Given the description of an element on the screen output the (x, y) to click on. 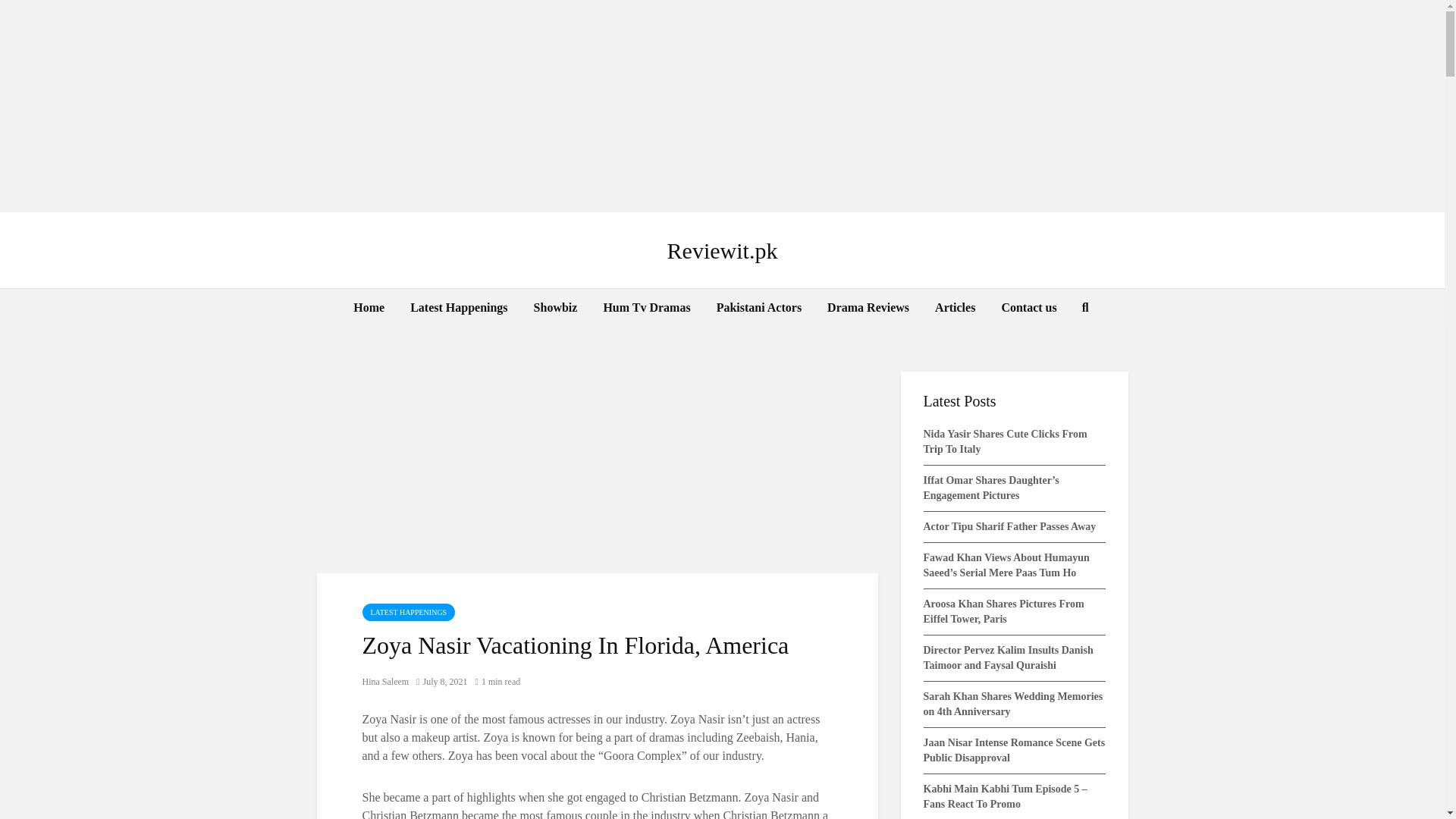
Home (369, 307)
Hum Tv Dramas (646, 307)
Latest Happenings (458, 307)
Advertisement (597, 460)
Drama Reviews (867, 307)
Articles (955, 307)
LATEST HAPPENINGS (408, 611)
Showbiz (555, 307)
Contact us (1028, 307)
Hina Saleem (385, 681)
Hum Tv Dramas (646, 307)
Pakistani Actors (758, 307)
Reviewit.pk (721, 250)
